Given the description of an element on the screen output the (x, y) to click on. 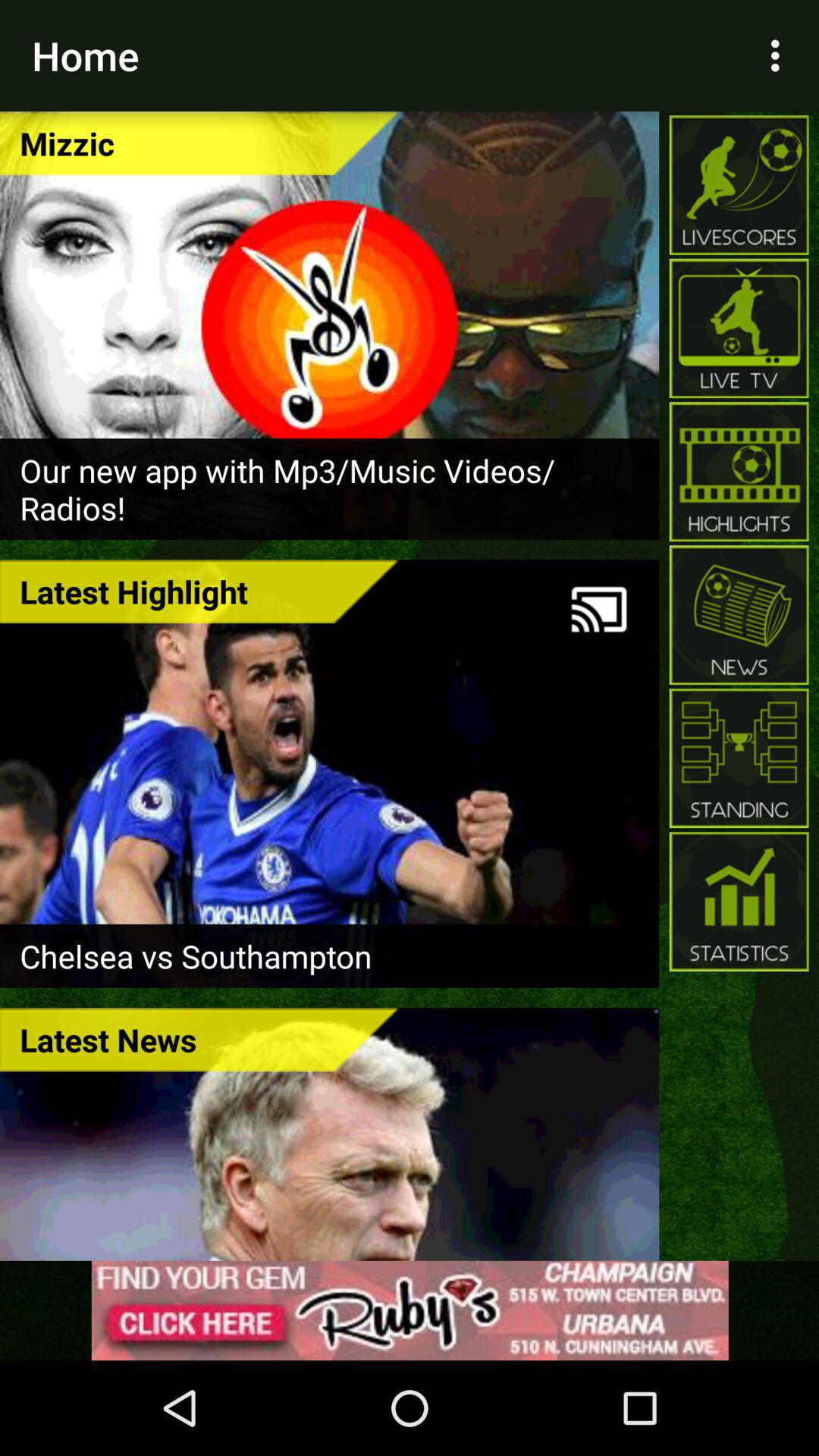
scroll to the latest news item (199, 1039)
